Given the description of an element on the screen output the (x, y) to click on. 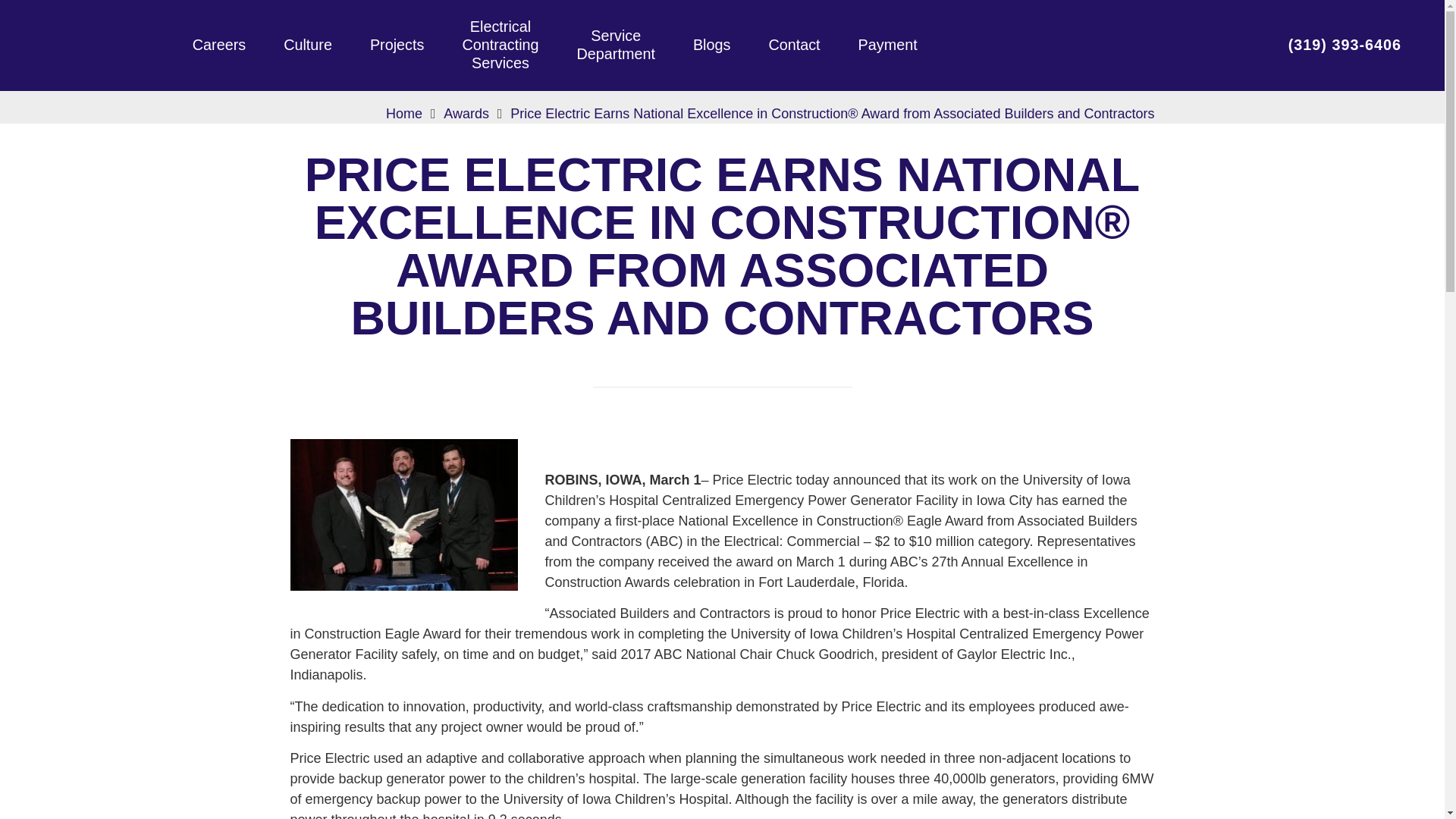
Careers (218, 45)
Payment (888, 45)
Culture (307, 45)
Awards (499, 45)
Home (615, 45)
Blogs (466, 113)
Contact (403, 113)
Projects (711, 45)
